Given the description of an element on the screen output the (x, y) to click on. 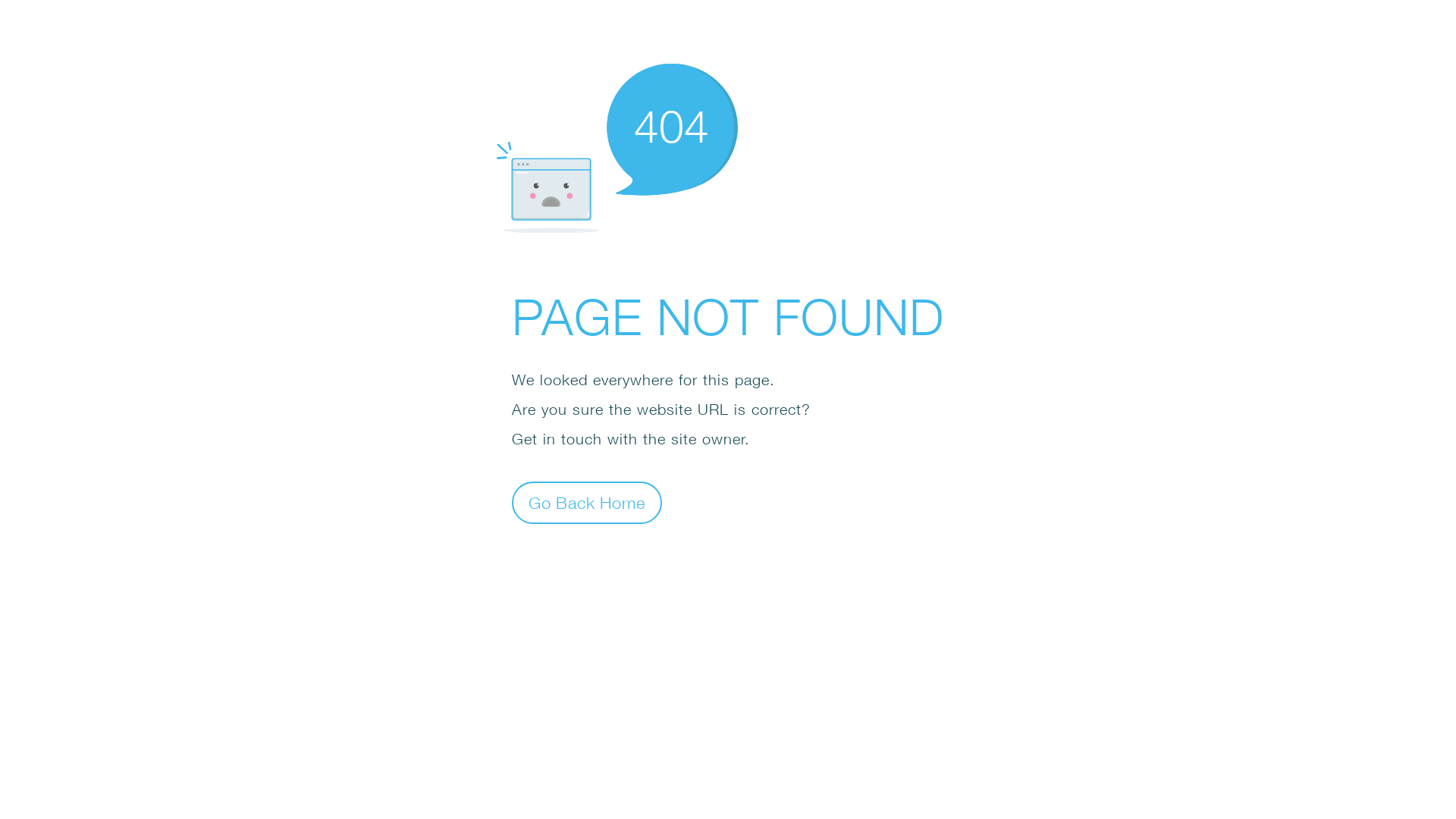
Go Back Home Element type: text (586, 502)
